Given the description of an element on the screen output the (x, y) to click on. 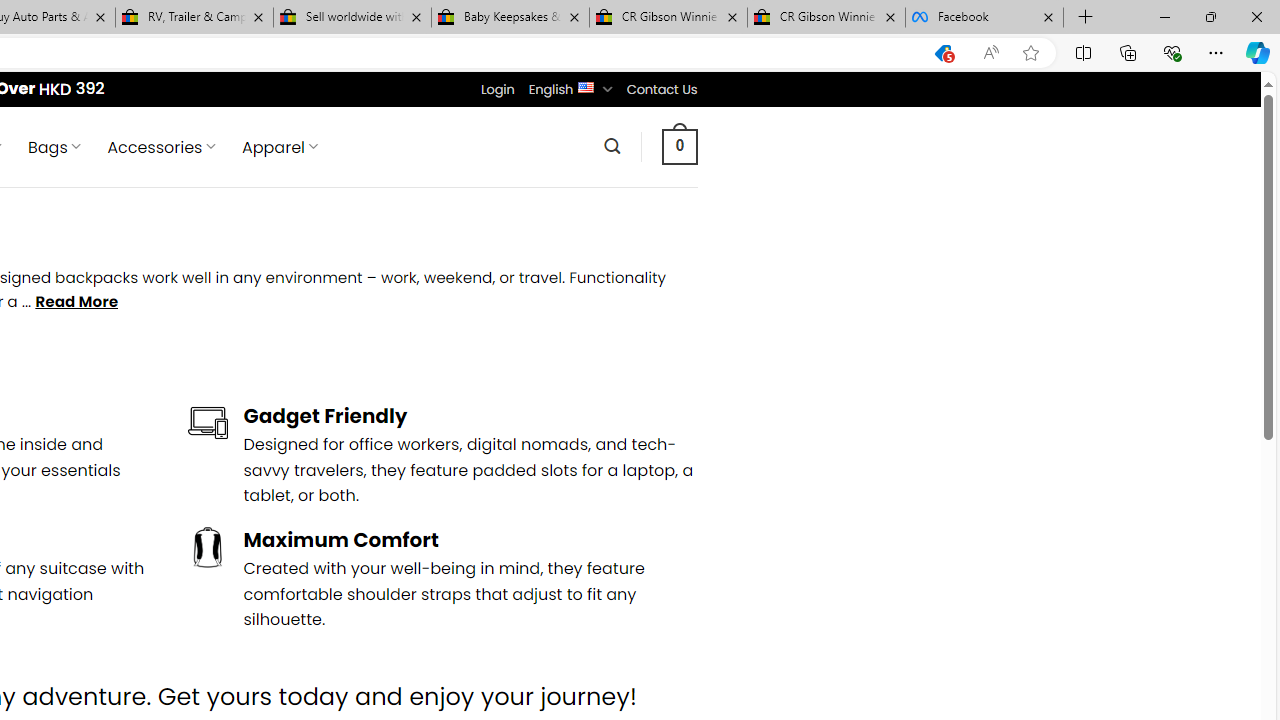
English (586, 86)
